Given the description of an element on the screen output the (x, y) to click on. 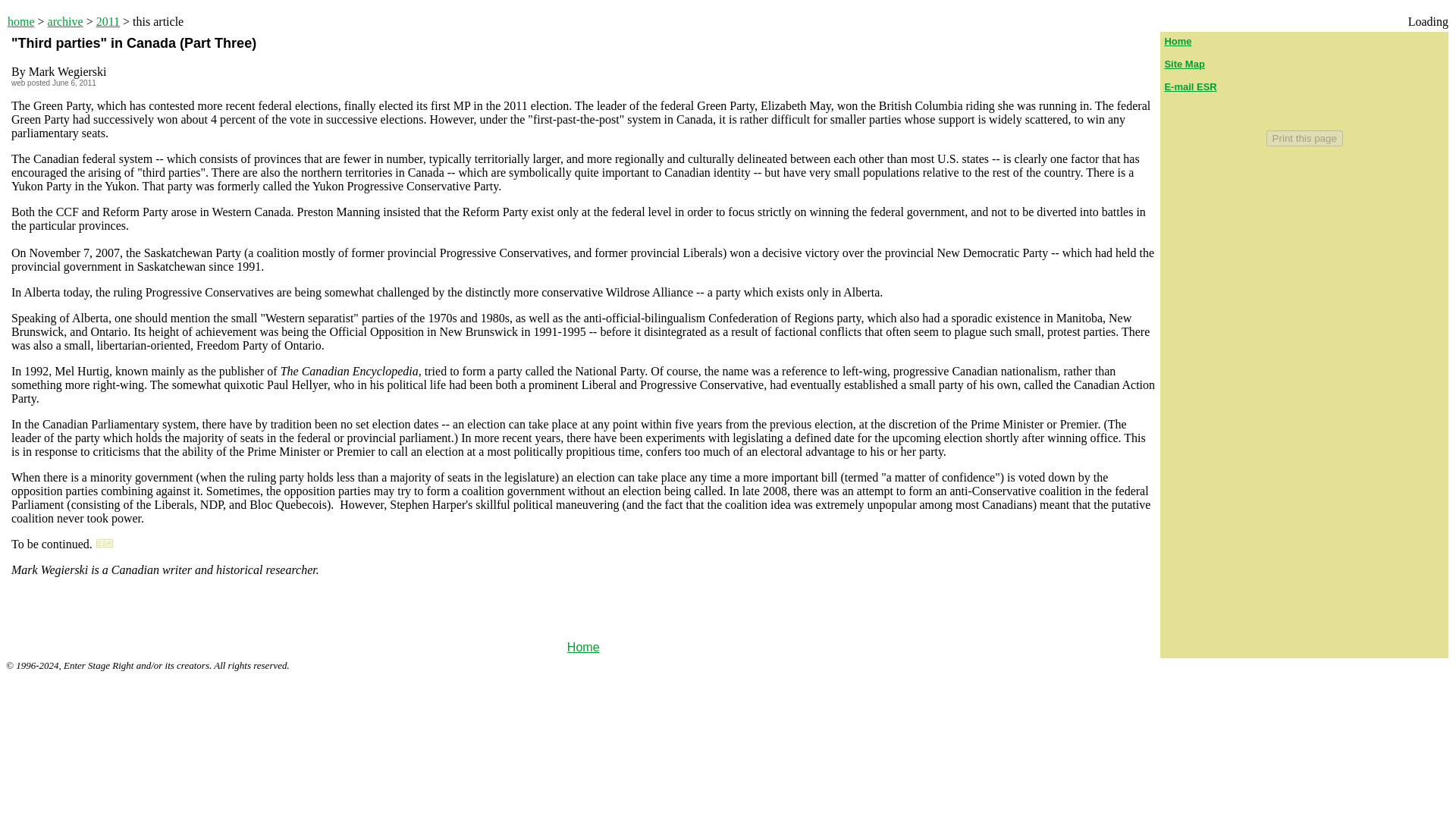
Site Map (1183, 63)
Home (1177, 41)
E-mail ESR (1189, 86)
Print this page (1304, 138)
Home (583, 646)
2011 (107, 21)
home (20, 21)
archive (65, 21)
